Given the description of an element on the screen output the (x, y) to click on. 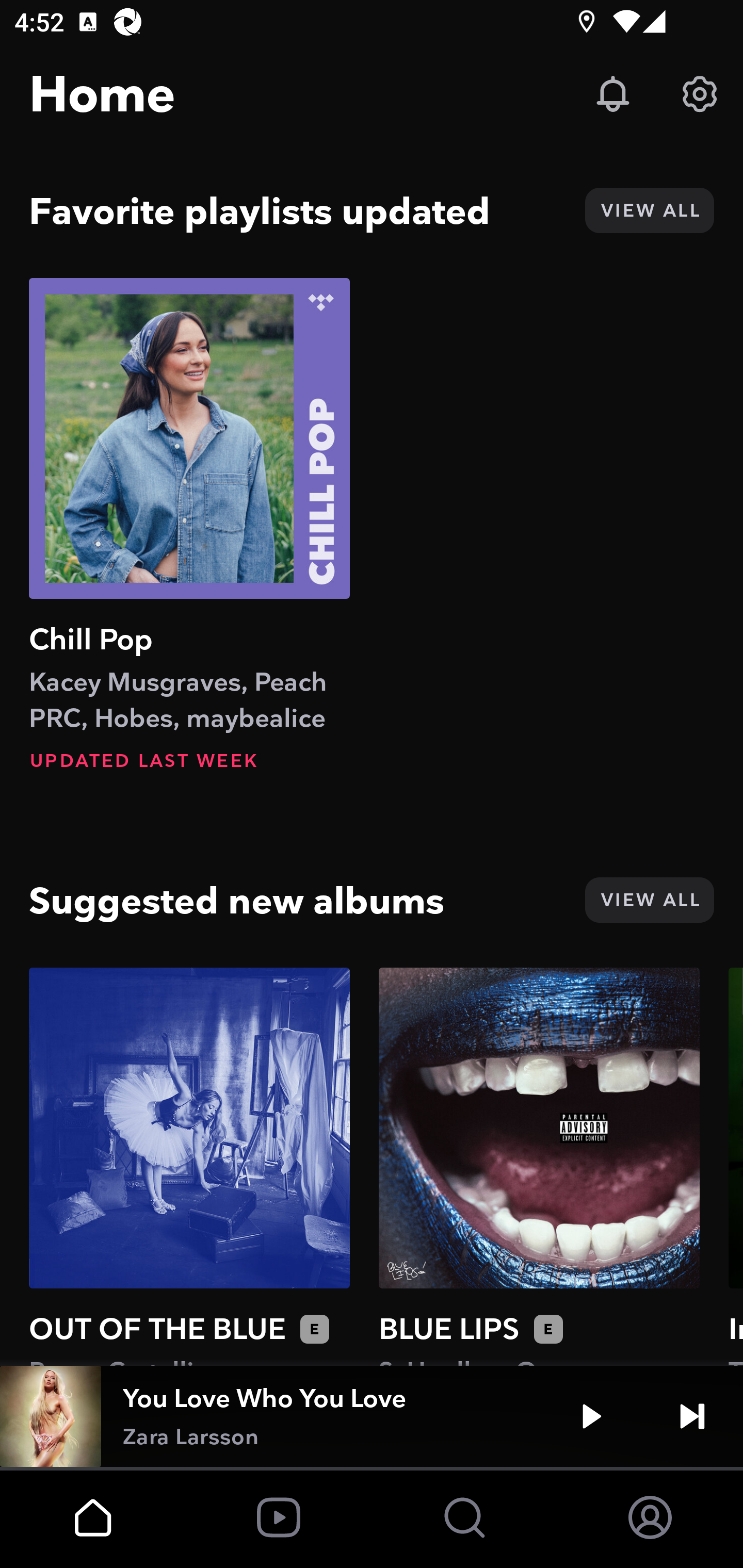
Updates (612, 93)
Settings (699, 93)
VIEW ALL (649, 210)
VIEW ALL (649, 899)
OUT OF THE BLUE Brynn Cartelli (188, 1166)
BLUE LIPS ScHoolboy Q (538, 1166)
You Love Who You Love Zara Larsson Play (371, 1416)
Play (590, 1416)
